Given the description of an element on the screen output the (x, y) to click on. 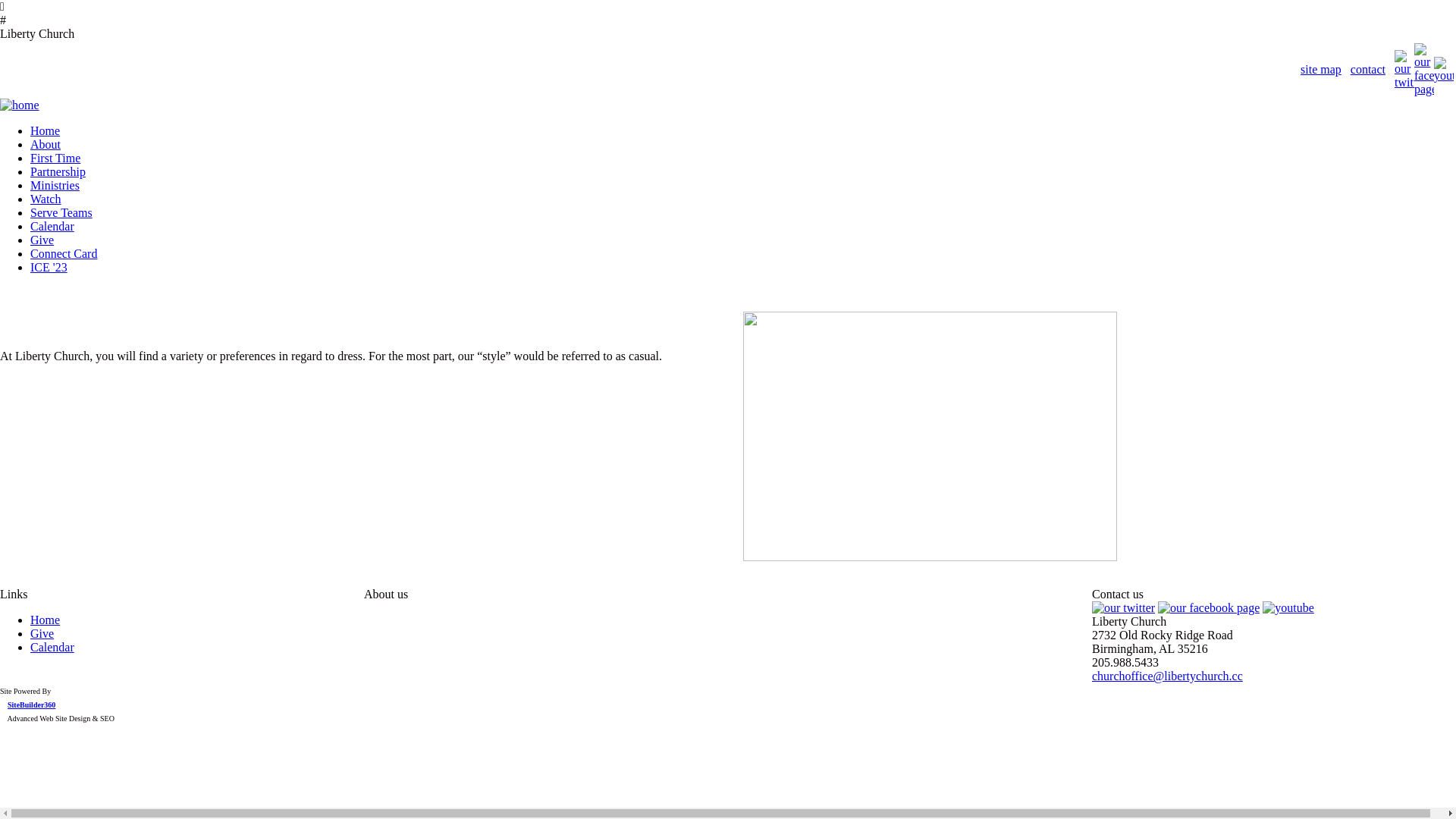
About Element type: text (45, 144)
SiteBuilder360 Element type: text (31, 704)
First Time Element type: text (55, 157)
site map Element type: text (1320, 69)
Partnership Element type: text (57, 171)
Give Element type: text (41, 633)
Serve Teams Element type: text (61, 212)
contact Element type: text (1367, 69)
Calendar Element type: text (52, 646)
Ministries Element type: text (54, 184)
Connect Card Element type: text (63, 253)
ICE '23 Element type: text (48, 266)
Home Element type: text (44, 619)
Calendar Element type: text (52, 225)
Watch Element type: text (45, 198)
Home Element type: text (44, 130)
churchoffice@libertychurch.cc Element type: text (1167, 675)
Give Element type: text (41, 239)
